Given the description of an element on the screen output the (x, y) to click on. 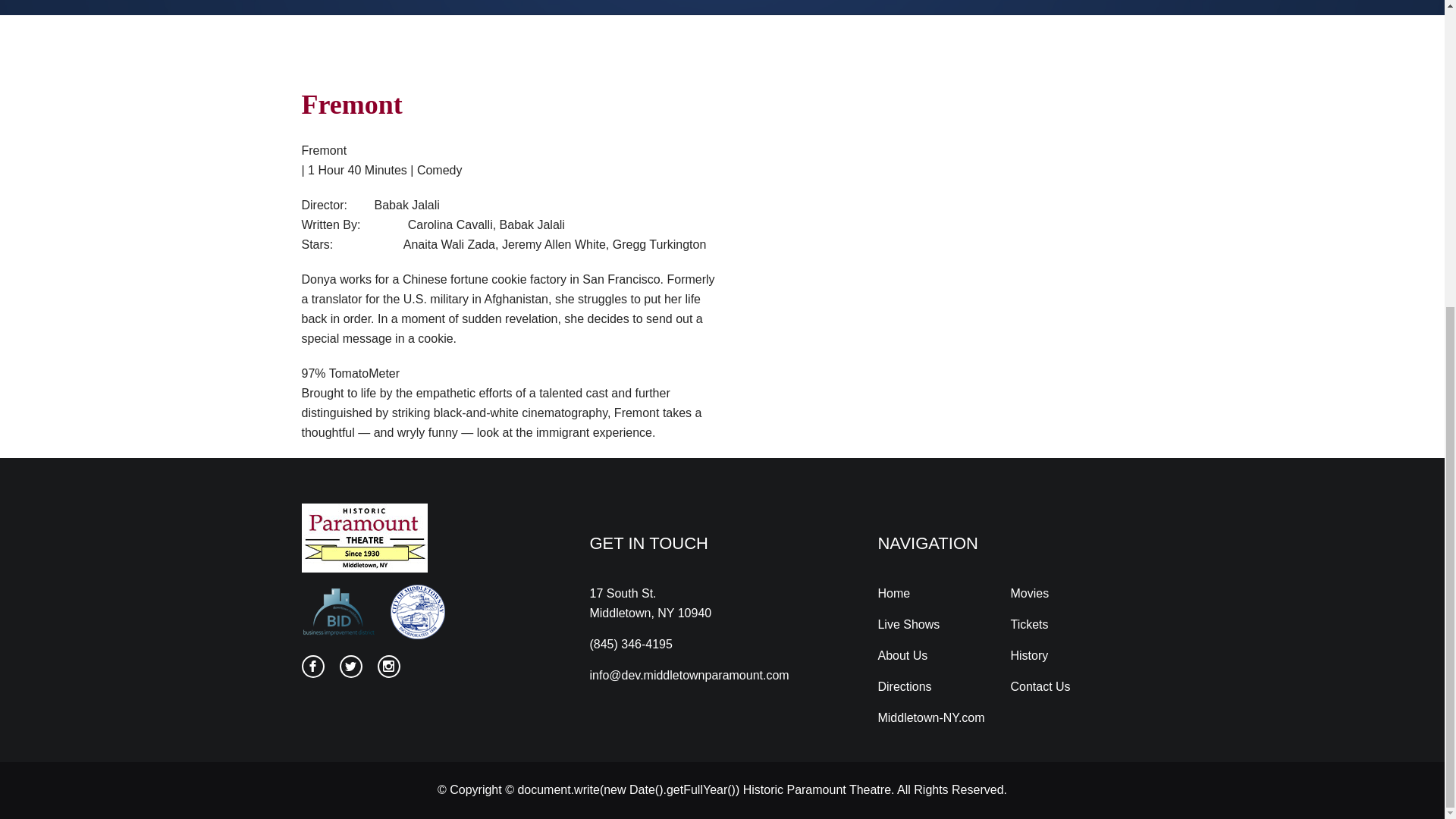
Live Shows (908, 624)
Directions (904, 686)
Tickets (1029, 624)
Middletown-NY.com (930, 717)
About Us (902, 655)
History (1029, 655)
Home (893, 592)
Contact Us (1040, 686)
Historic Paramount Theatre (816, 789)
Movies (1029, 592)
